Given the description of an element on the screen output the (x, y) to click on. 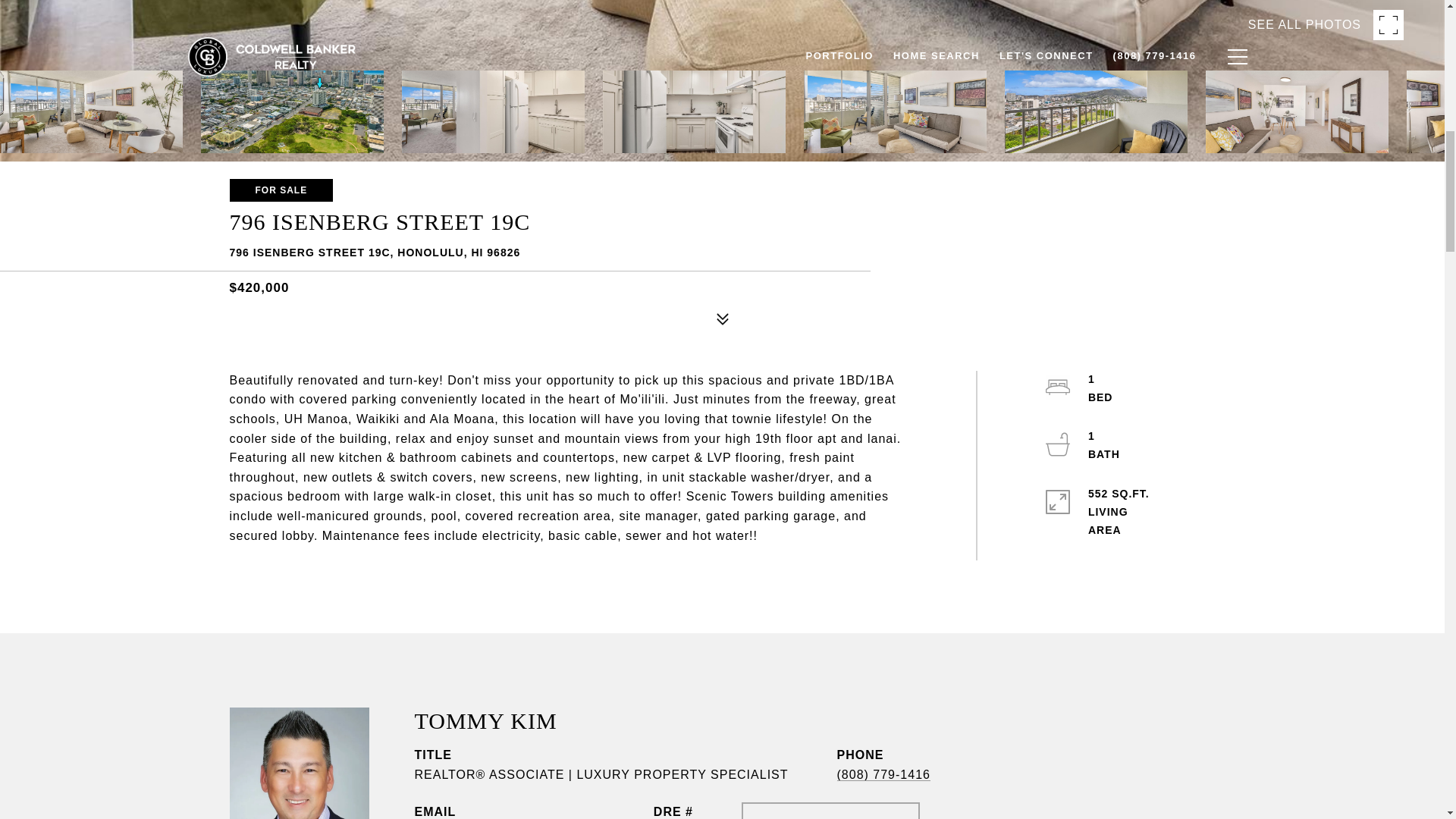
CONTACT AGENT (830, 810)
